Given the description of an element on the screen output the (x, y) to click on. 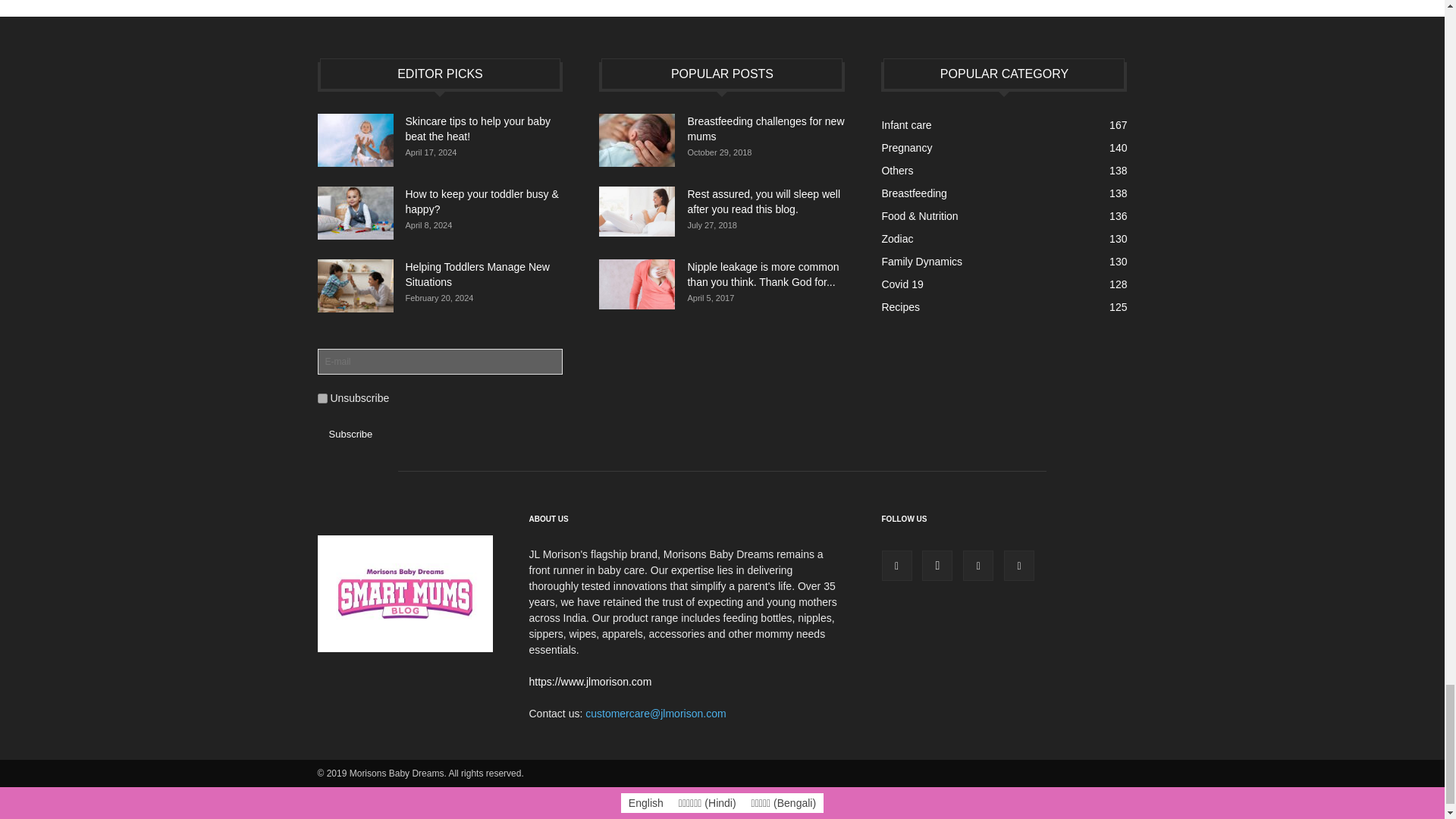
Subscribe (350, 433)
yes (321, 398)
